Given the description of an element on the screen output the (x, y) to click on. 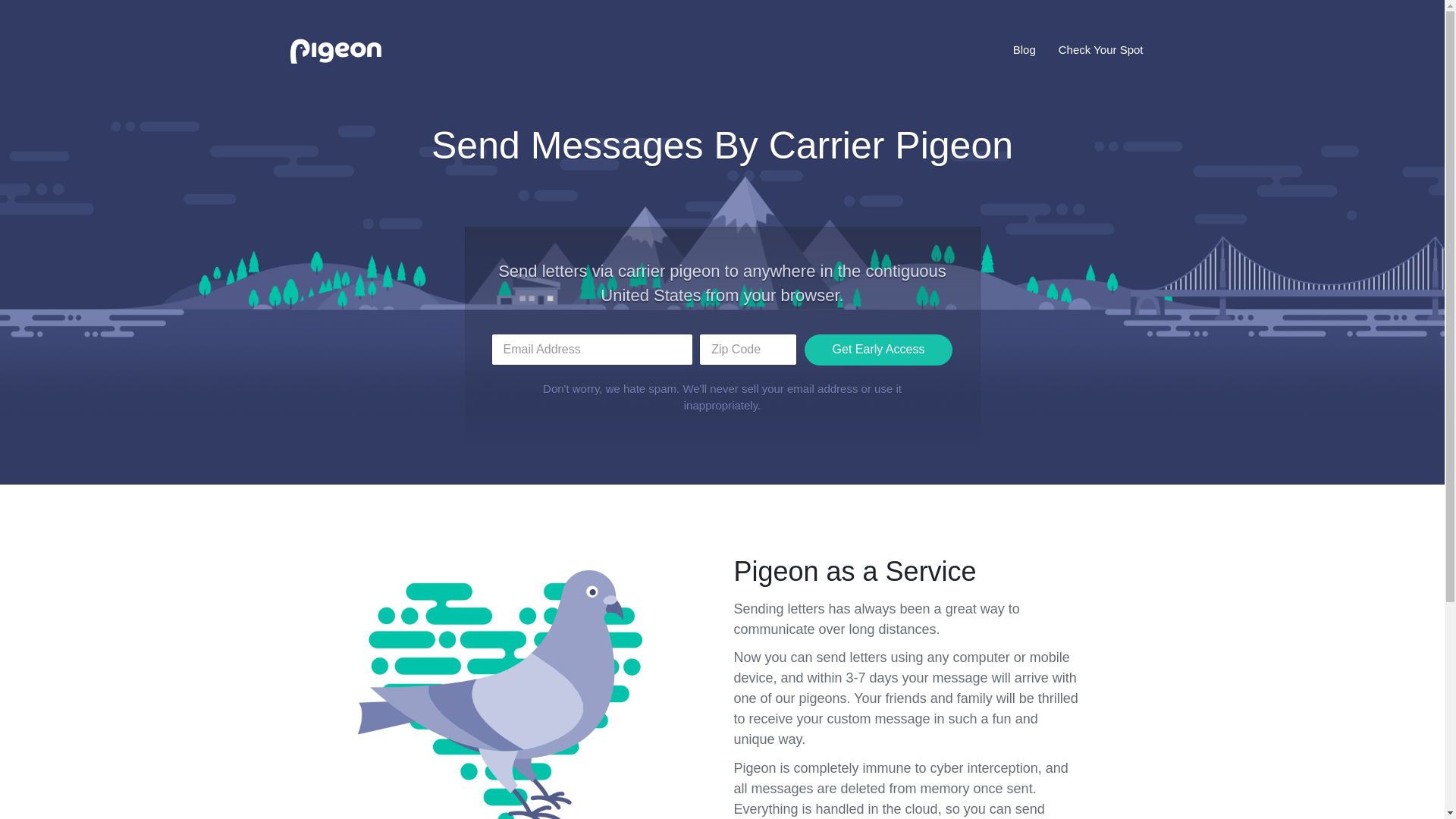
Check Your Spot (1100, 49)
Get Early Access (877, 490)
Pigeon (336, 49)
Blog (1023, 49)
